Given the description of an element on the screen output the (x, y) to click on. 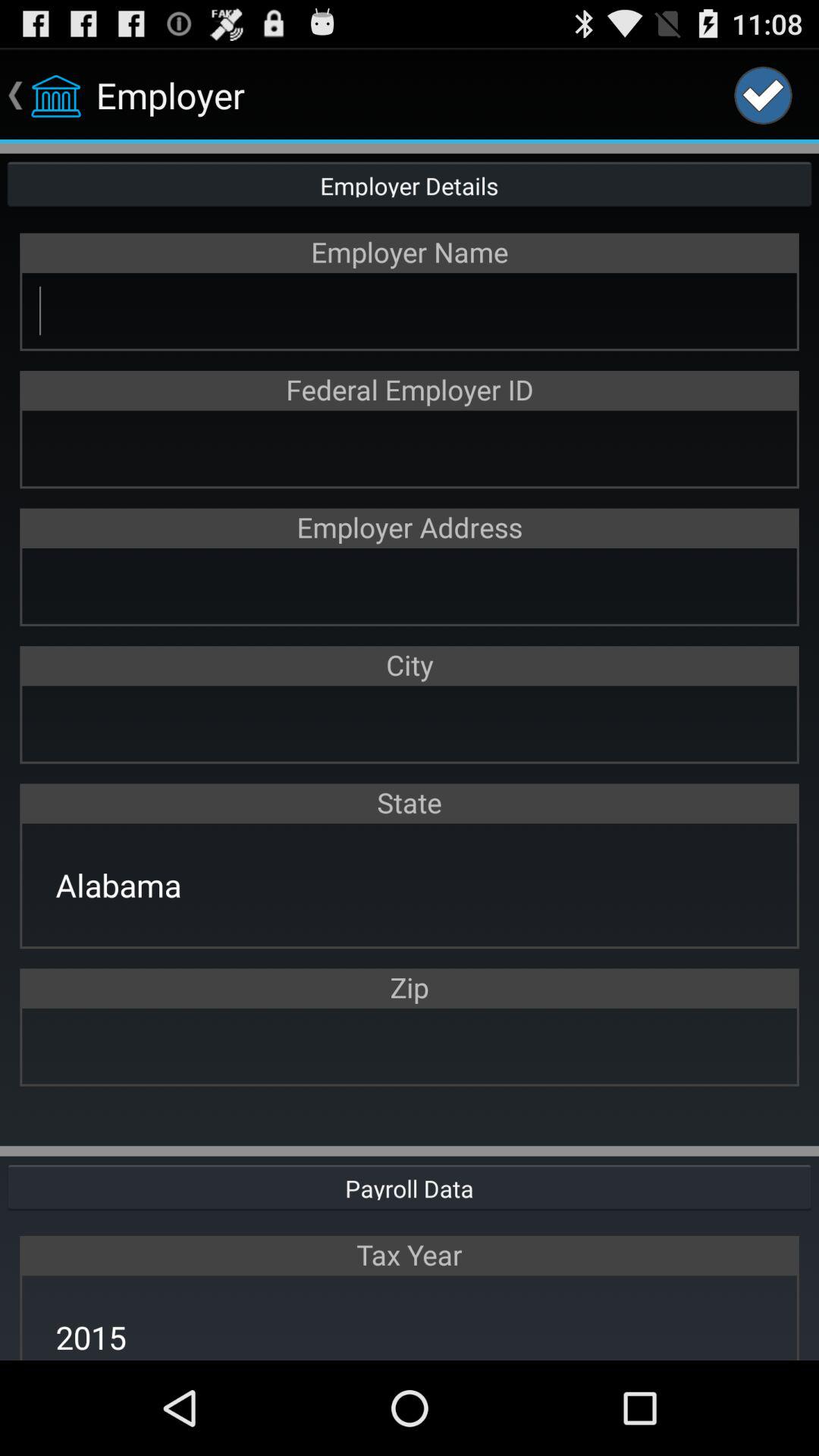
enter city field (409, 723)
